Given the description of an element on the screen output the (x, y) to click on. 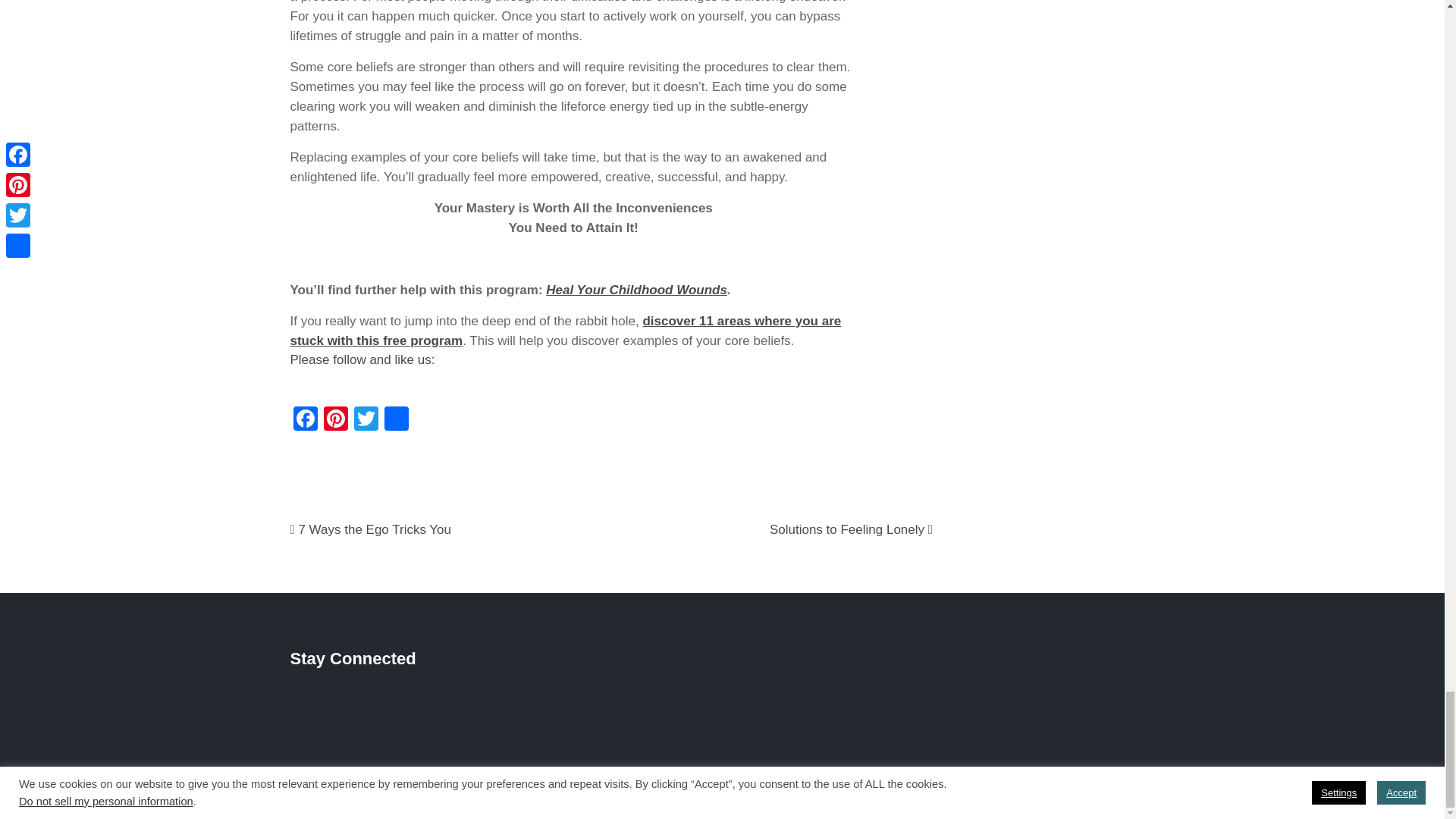
Facebook (304, 420)
